Given the description of an element on the screen output the (x, y) to click on. 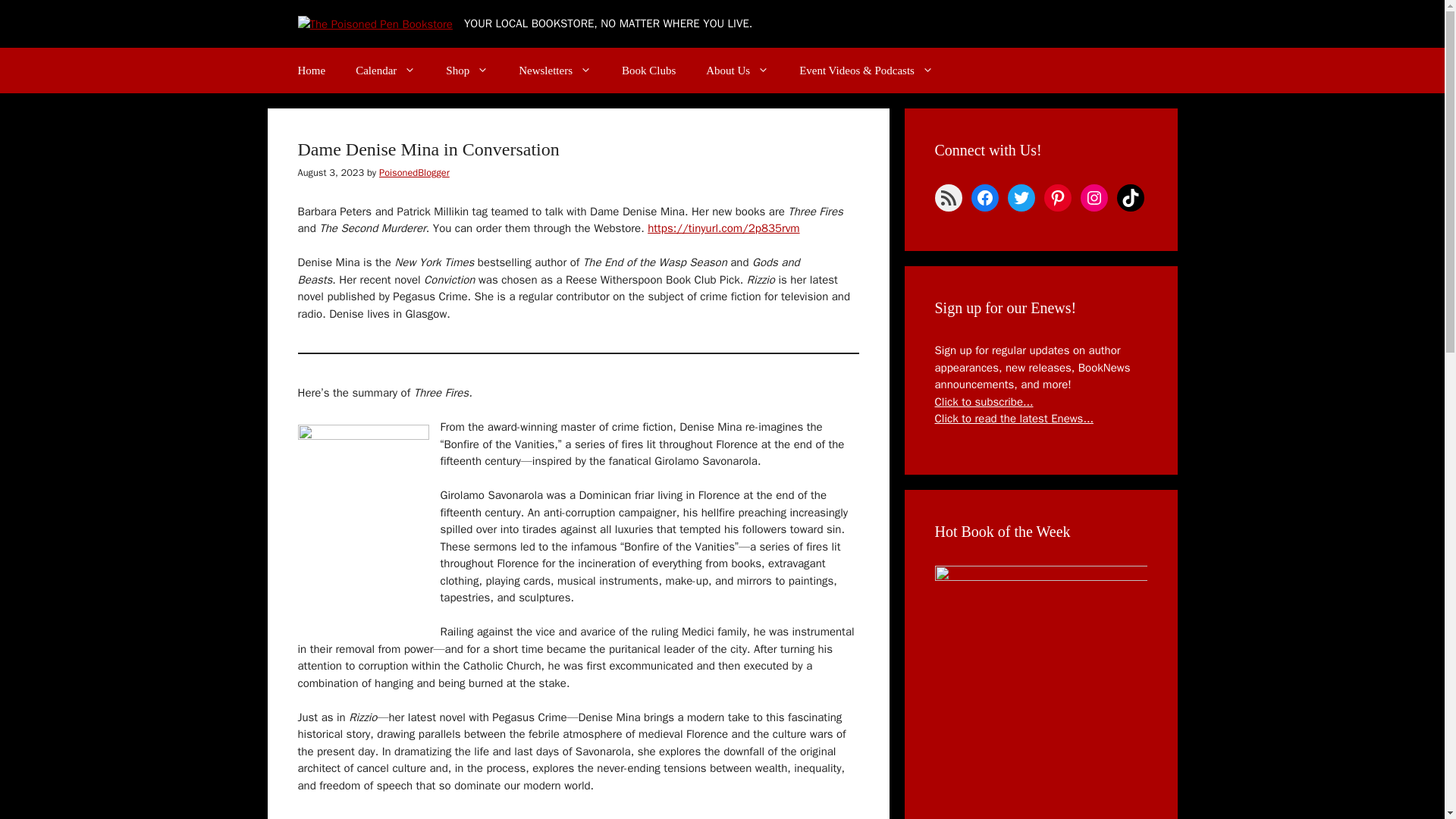
Pinterest (1056, 197)
Home (311, 70)
Book Clubs (648, 70)
Twitter (1020, 197)
TikTok (1129, 197)
Newsletters (555, 70)
Shop (466, 70)
View all posts by PoisonedBlogger (413, 173)
About Us (737, 70)
Facebook (984, 197)
PoisonedBlogger (413, 173)
RSS Feed (947, 197)
Calendar (385, 70)
Instagram (1093, 197)
